Given the description of an element on the screen output the (x, y) to click on. 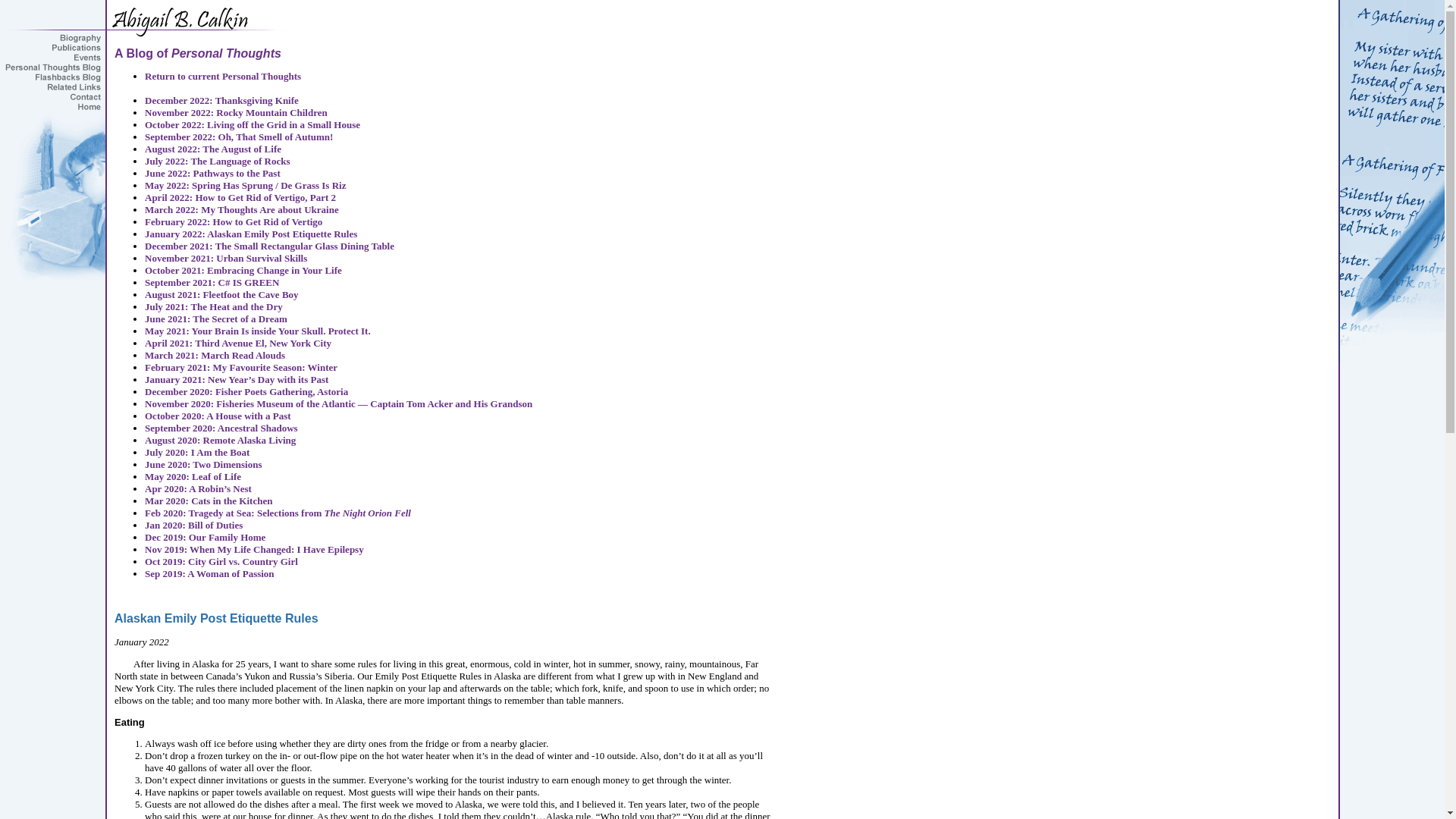
June 2022: Pathways to the Past (212, 173)
June 2021: The Secret of a Dream (215, 318)
October 2020: A House with a Past (217, 415)
June 2022: Pathways to the Past (212, 173)
November 2021: Urban Survival Skills (225, 257)
July 2021: The Heat and the Dry (213, 306)
November 2022: Rocky Mountain Children (235, 112)
September 2022: Oh, That Smell of Autumn! (238, 136)
March 2022: My Thoughts Are about Ukraine (241, 209)
February 2022: How to Get Rid of Vertigo (232, 221)
August 2020: Remote Alaska Living (219, 439)
November 2022: Rocky Mountain Children (235, 112)
October 2022: Living off the Grid in a Small House (251, 124)
August 2021: Fleetfoot the Cave Boy (221, 294)
January 2022: Alaskan Emily Post Etiquette Rules (250, 233)
